Given the description of an element on the screen output the (x, y) to click on. 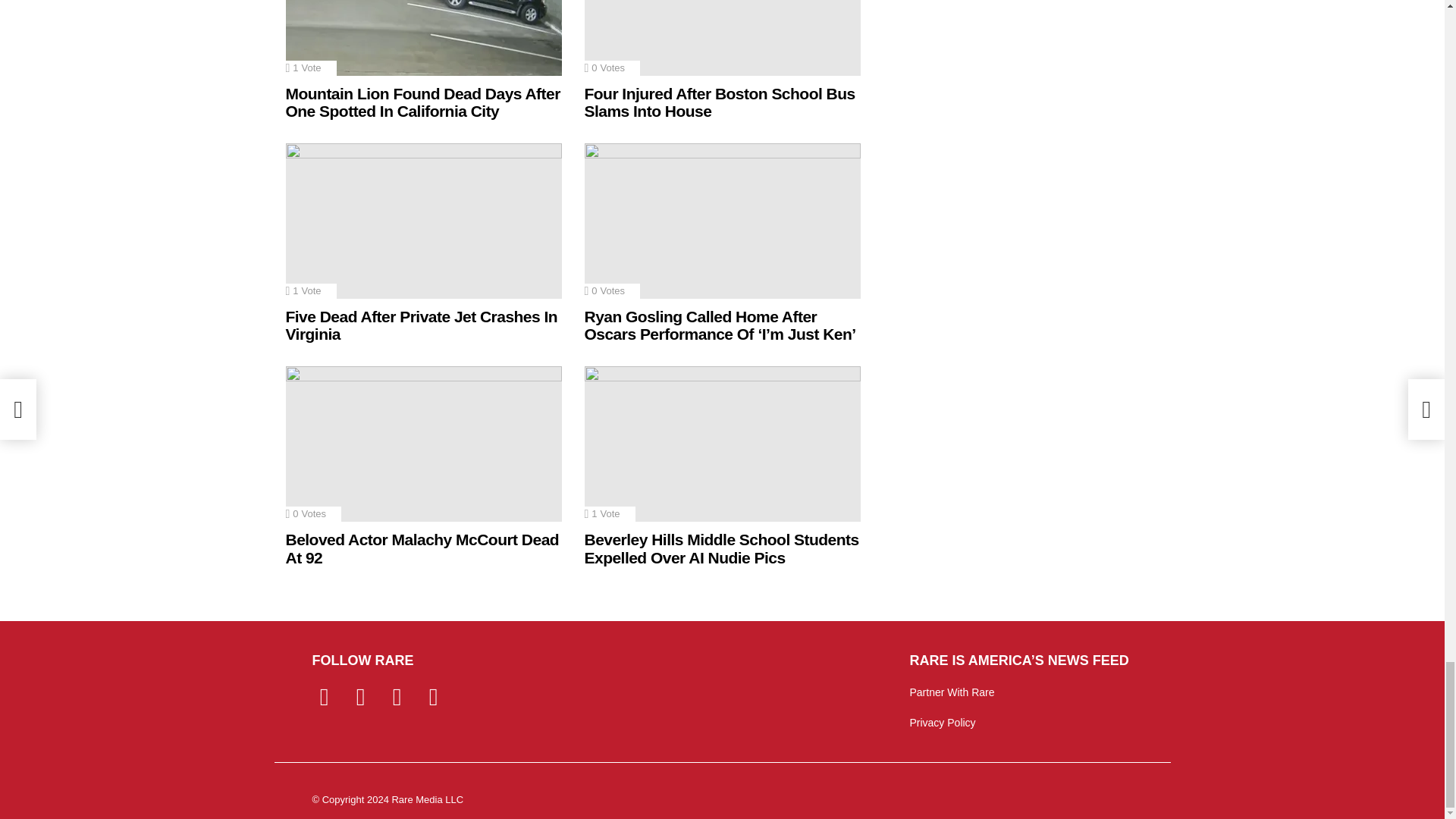
Four Injured After Boston School Bus Slams Into House (721, 38)
Five Dead After Private Jet Crashes In Virginia (422, 220)
